Given the description of an element on the screen output the (x, y) to click on. 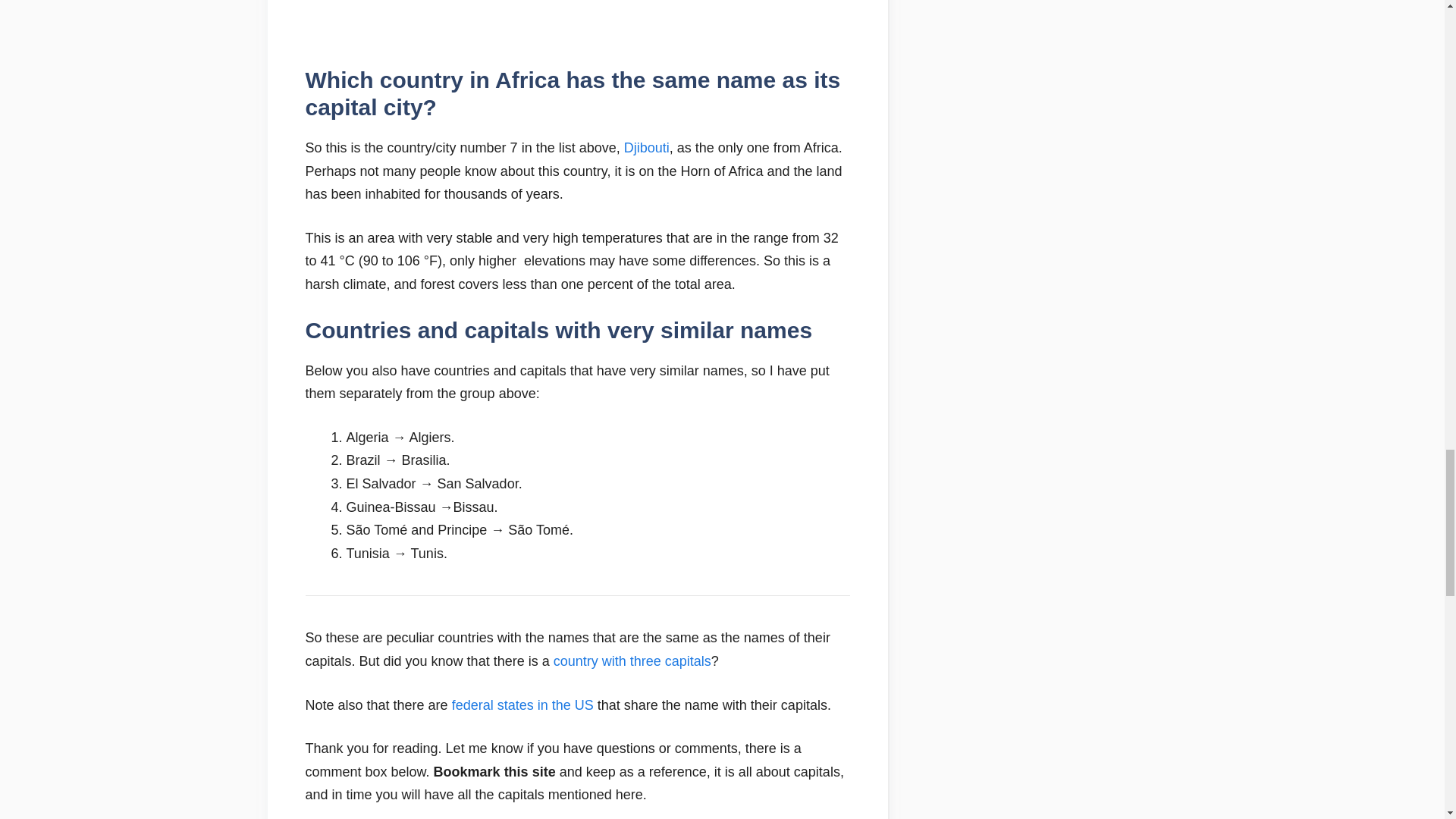
Djibouti (646, 147)
country with three capitals (632, 661)
Which Countries Have 3 Capitals? (632, 661)
Which of the US States Share the Name with Their Capitals? (522, 704)
federal states in the US (522, 704)
